Given the description of an element on the screen output the (x, y) to click on. 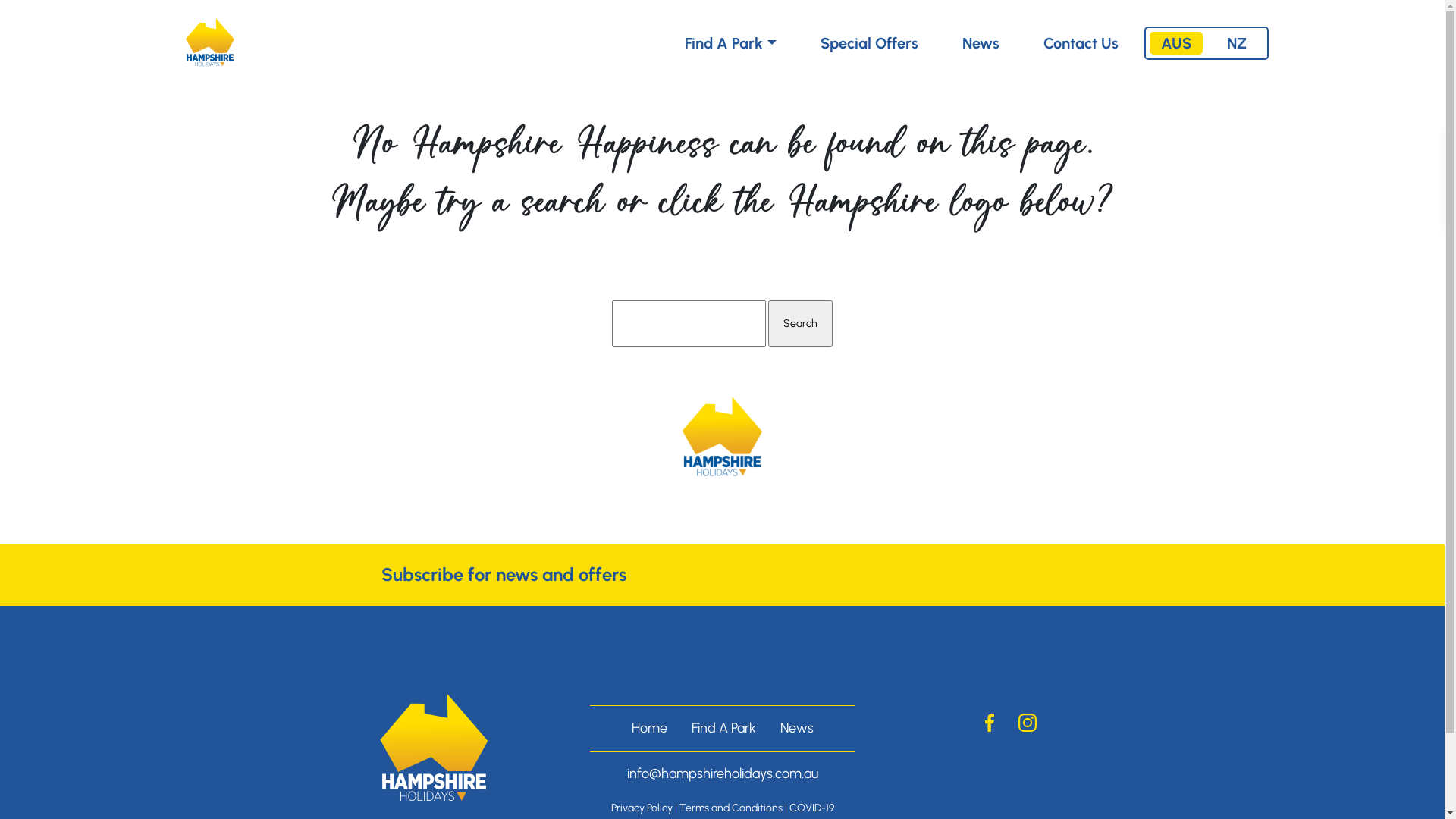
info@hampshireholidays.com.au Element type: text (721, 773)
Privacy Policy Element type: text (641, 807)
Home Element type: text (648, 727)
Find A Park Element type: text (729, 42)
News Element type: text (979, 42)
| COVID-19 Element type: text (808, 807)
Contact Us Element type: text (1080, 42)
News Element type: text (795, 727)
AUS
NZ Element type: text (1206, 42)
Search Element type: text (800, 323)
Terms and Conditions Element type: text (730, 807)
Find A Park Element type: text (723, 727)
Special Offers Element type: text (869, 42)
